Given the description of an element on the screen output the (x, y) to click on. 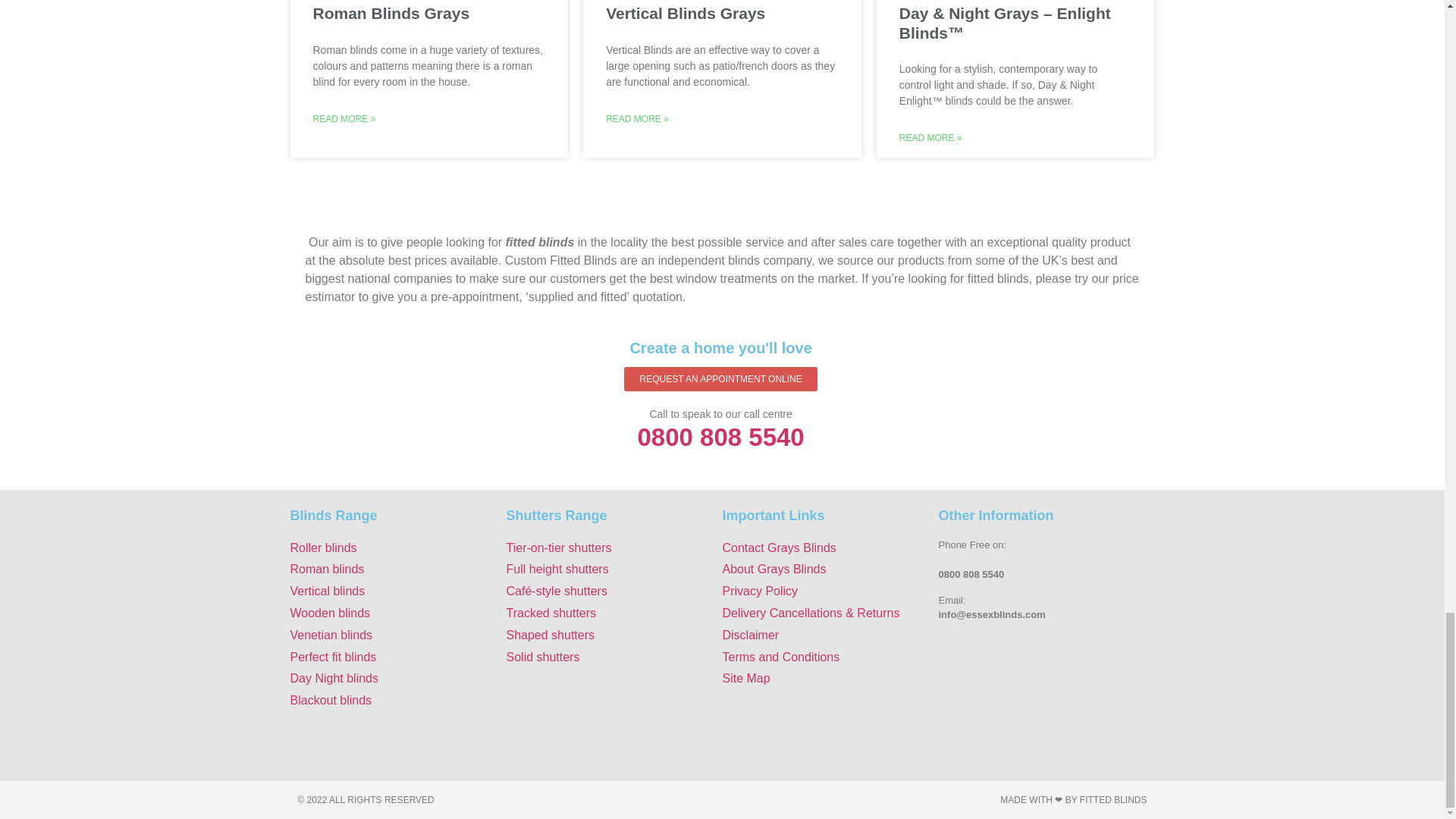
facebook1 (992, 697)
instagram (1100, 697)
